Given the description of an element on the screen output the (x, y) to click on. 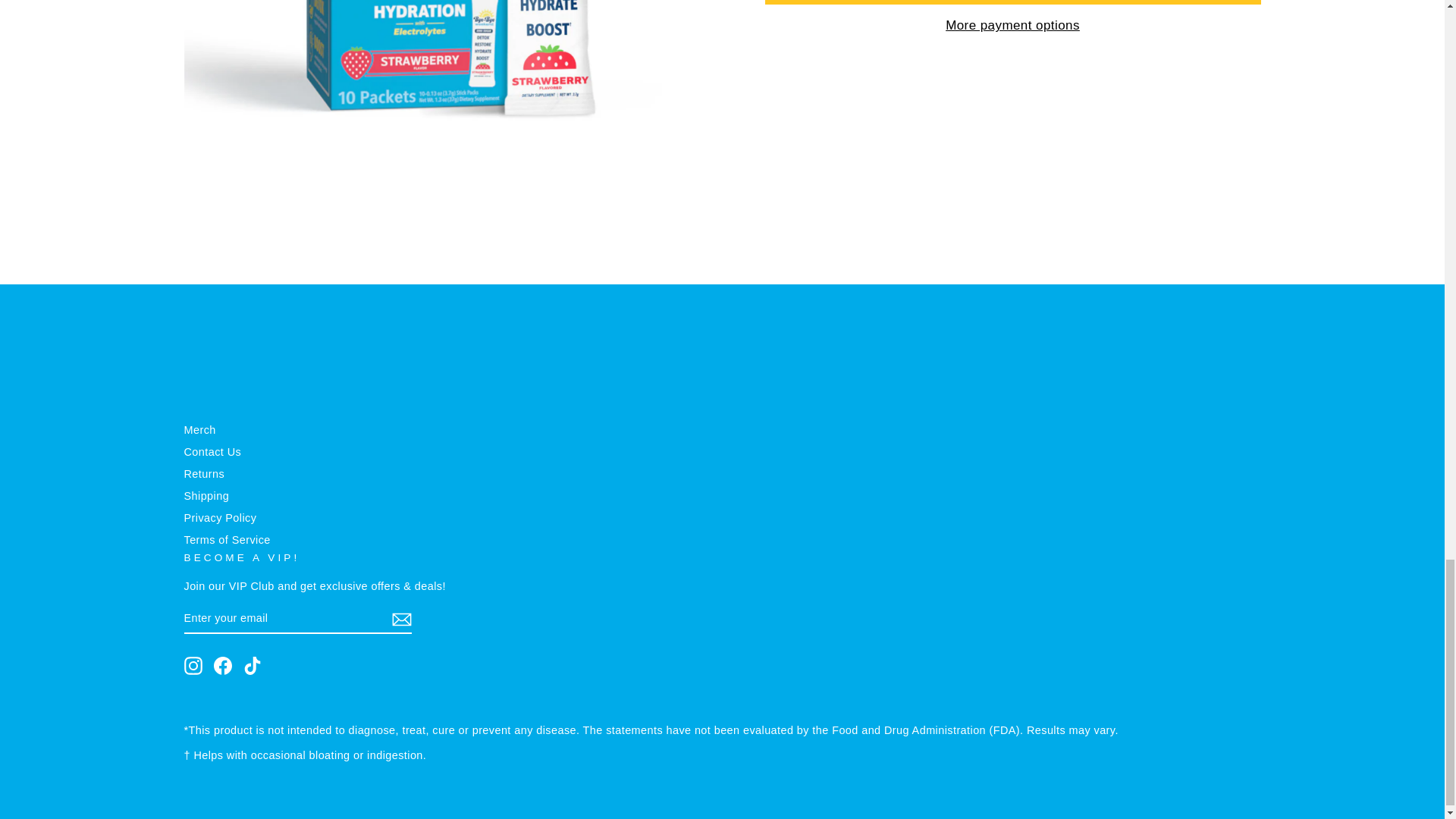
Bye-Bye Weekend on TikTok (251, 665)
instagram (192, 665)
Bye-Bye Weekend on Facebook (222, 665)
Bye-Bye Weekend on Instagram (192, 665)
icon-email (400, 619)
